Given the description of an element on the screen output the (x, y) to click on. 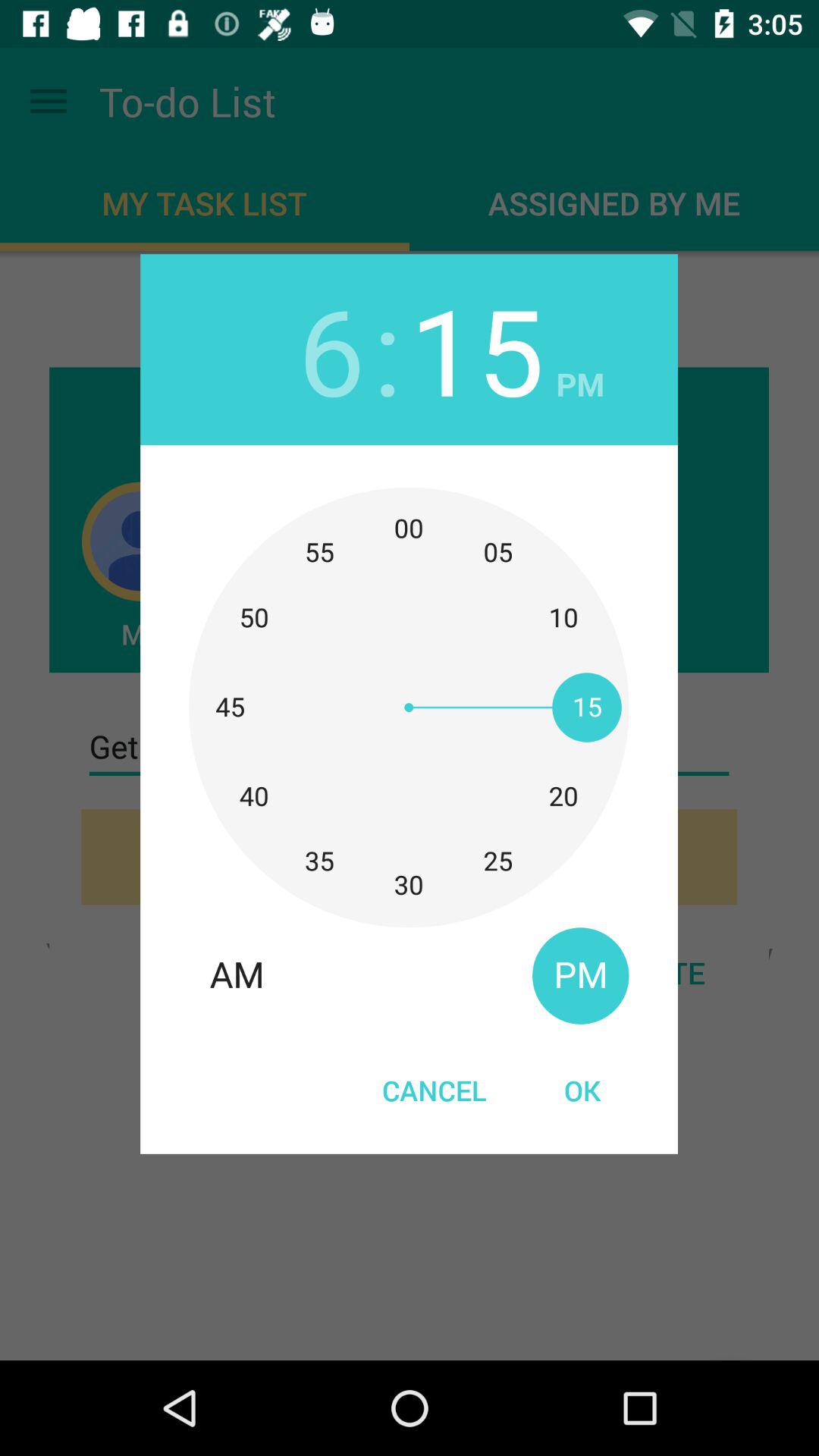
open item next to the ok item (434, 1090)
